Given the description of an element on the screen output the (x, y) to click on. 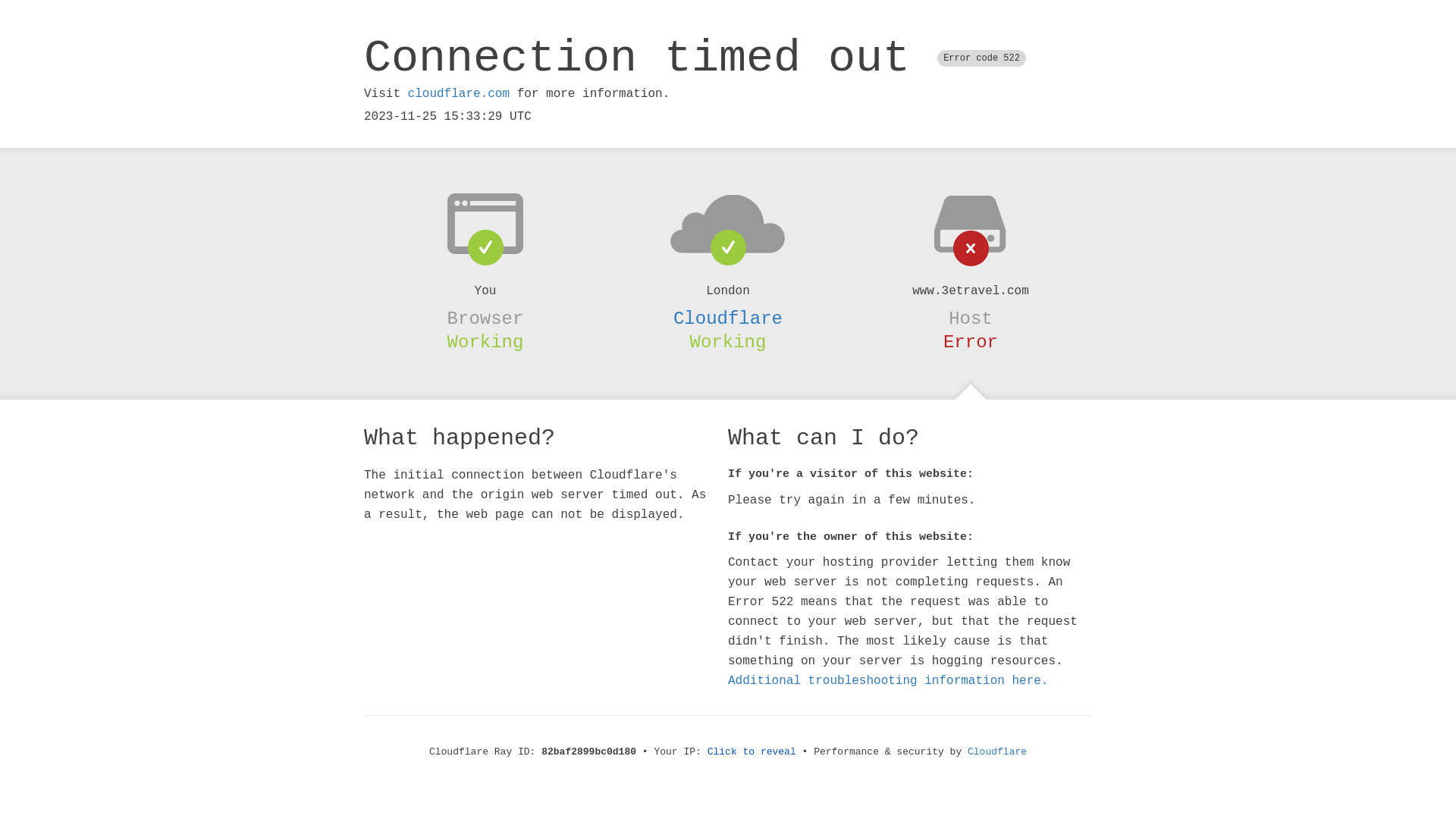
Cloudflare Element type: text (727, 318)
cloudflare.com Element type: text (458, 93)
Additional troubleshooting information here. Element type: text (888, 680)
Click to reveal Element type: text (751, 751)
Cloudflare Element type: text (996, 751)
